Given the description of an element on the screen output the (x, y) to click on. 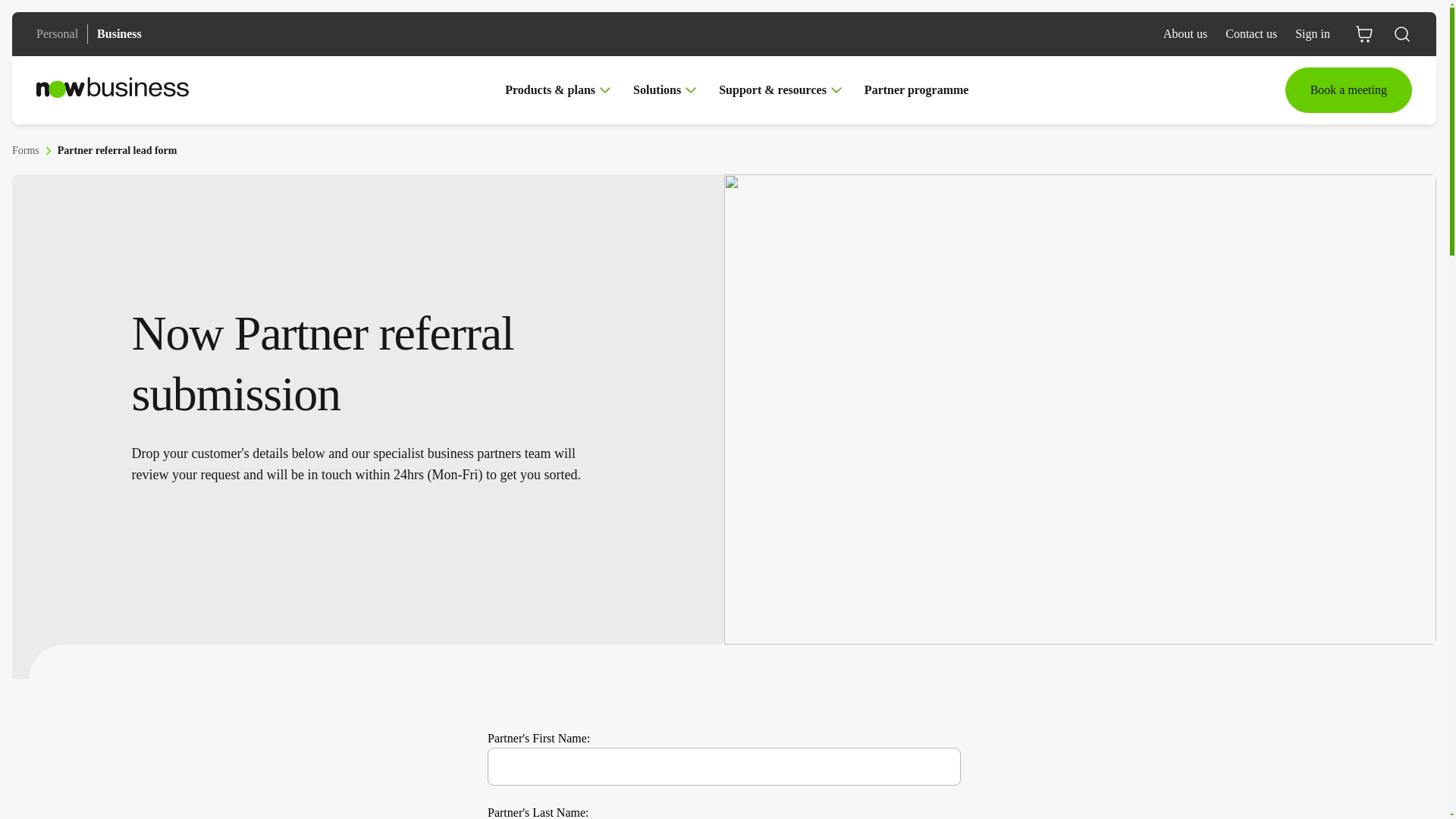
Book a meeting (1348, 90)
Partner programme (917, 90)
Sign in (1312, 33)
Solutions (666, 90)
About us (1185, 33)
Personal (57, 33)
Contact us (1250, 33)
